Given the description of an element on the screen output the (x, y) to click on. 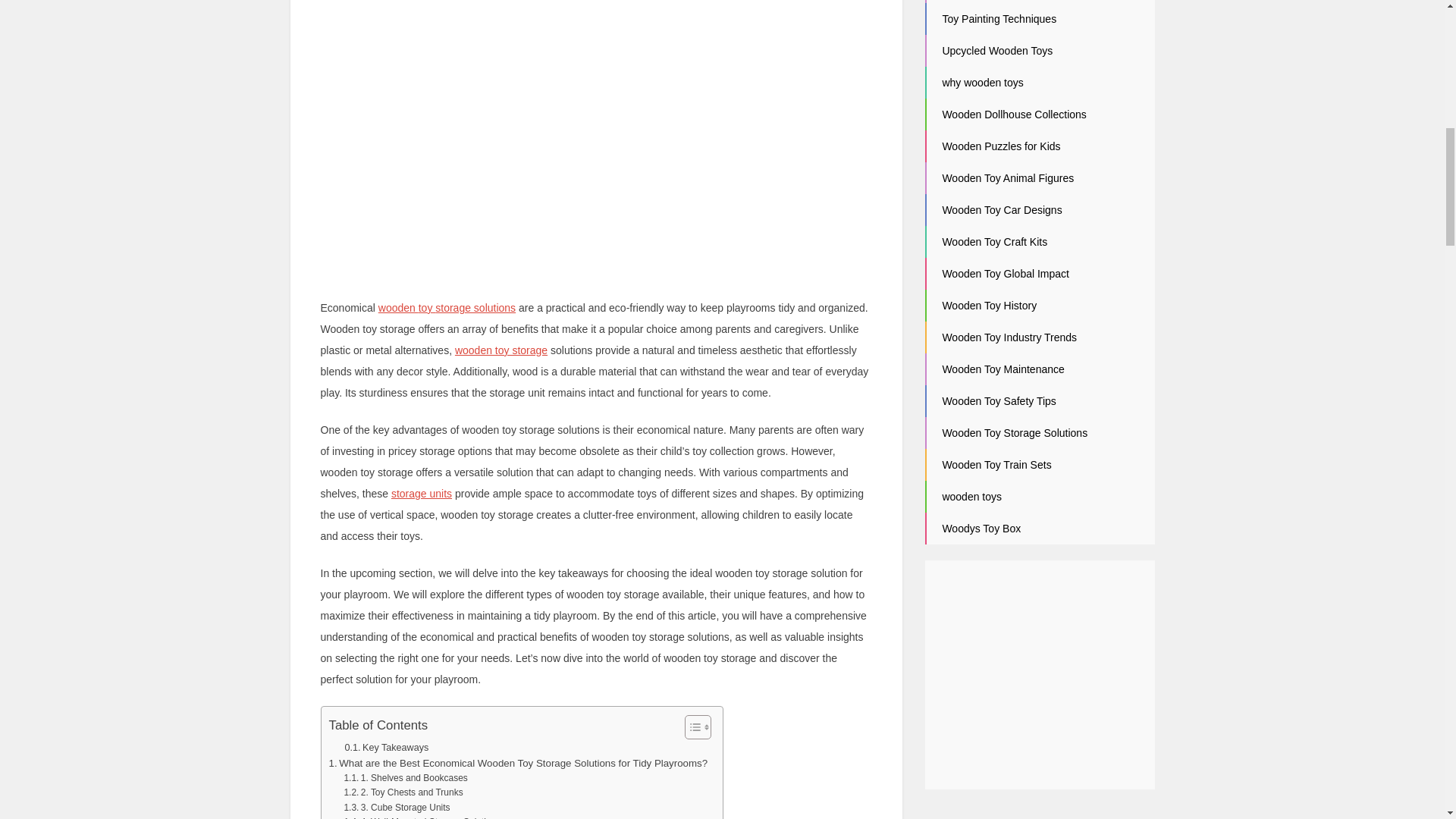
Key Takeaways (385, 747)
2. Toy Chests and Trunks (403, 792)
wooden (398, 307)
3. Cube Storage Units (396, 807)
Key Takeaways (385, 747)
toy (427, 307)
